Given the description of an element on the screen output the (x, y) to click on. 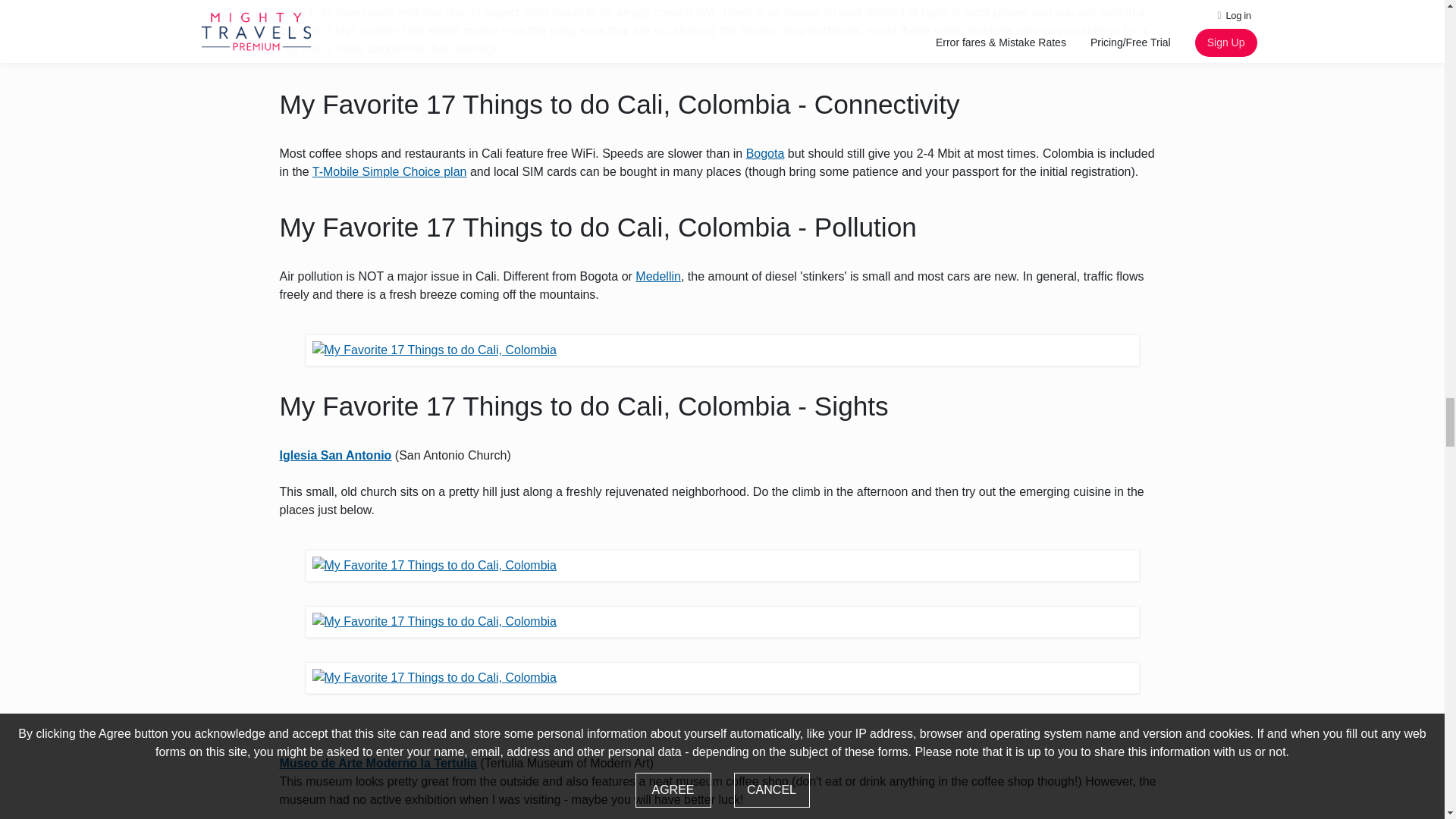
Medellin (657, 276)
Iglesia San Antonio (335, 454)
Museo de Arte Moderno la Tertulia (377, 762)
T-Mobile Simple Choice plan (390, 171)
Bogota (764, 153)
